Given the description of an element on the screen output the (x, y) to click on. 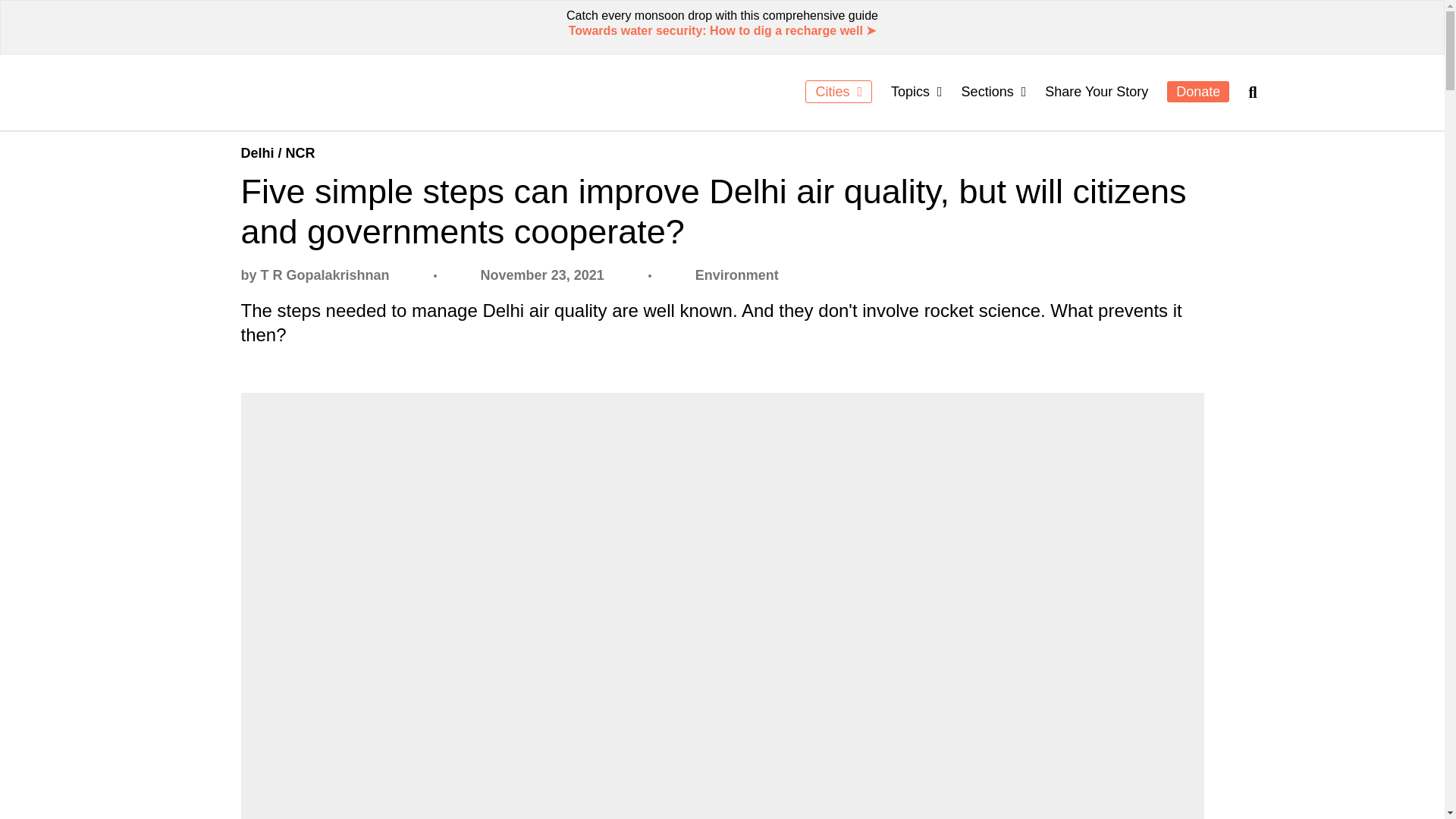
Cities (838, 91)
